Given the description of an element on the screen output the (x, y) to click on. 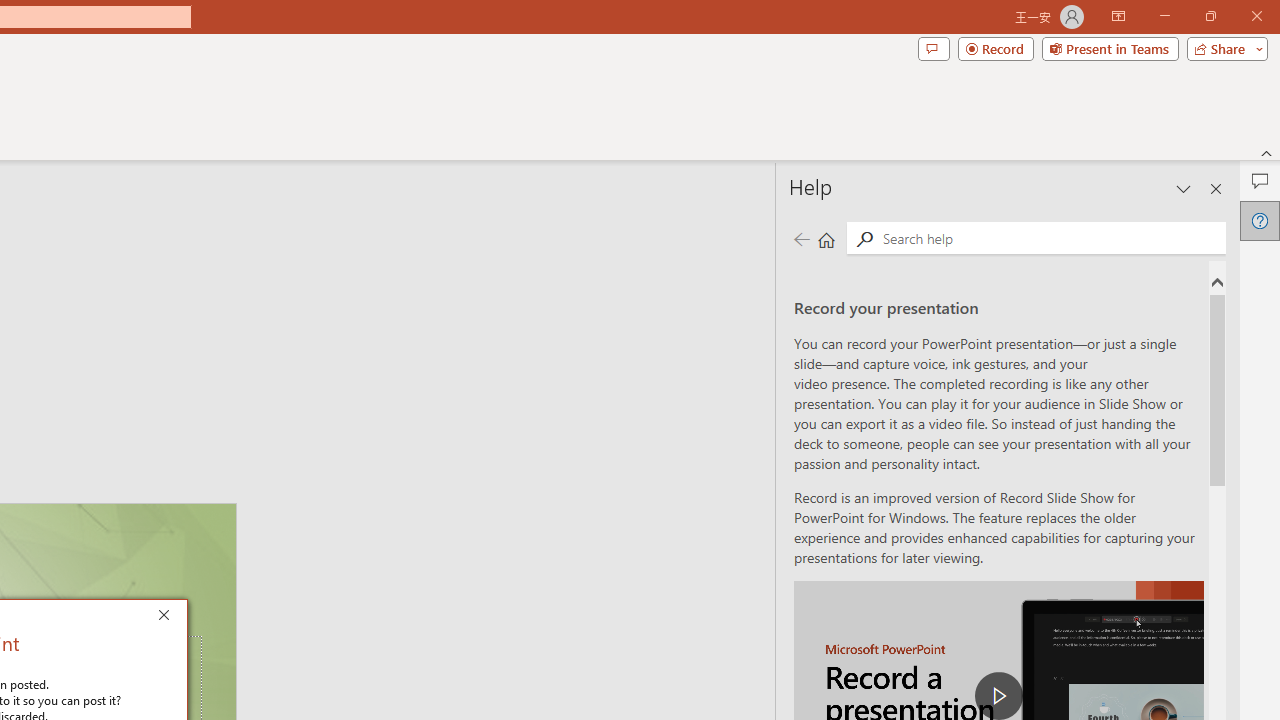
Comments (933, 48)
Collapse the Ribbon (1267, 152)
Task Pane Options (1183, 188)
Share (1223, 48)
Close (168, 618)
Previous page (801, 238)
Present in Teams (1109, 48)
Comments (1260, 180)
play Record a Presentation (998, 695)
Help (1260, 220)
Minimize (1164, 16)
Ribbon Display Options (1118, 16)
Search (864, 238)
